Given the description of an element on the screen output the (x, y) to click on. 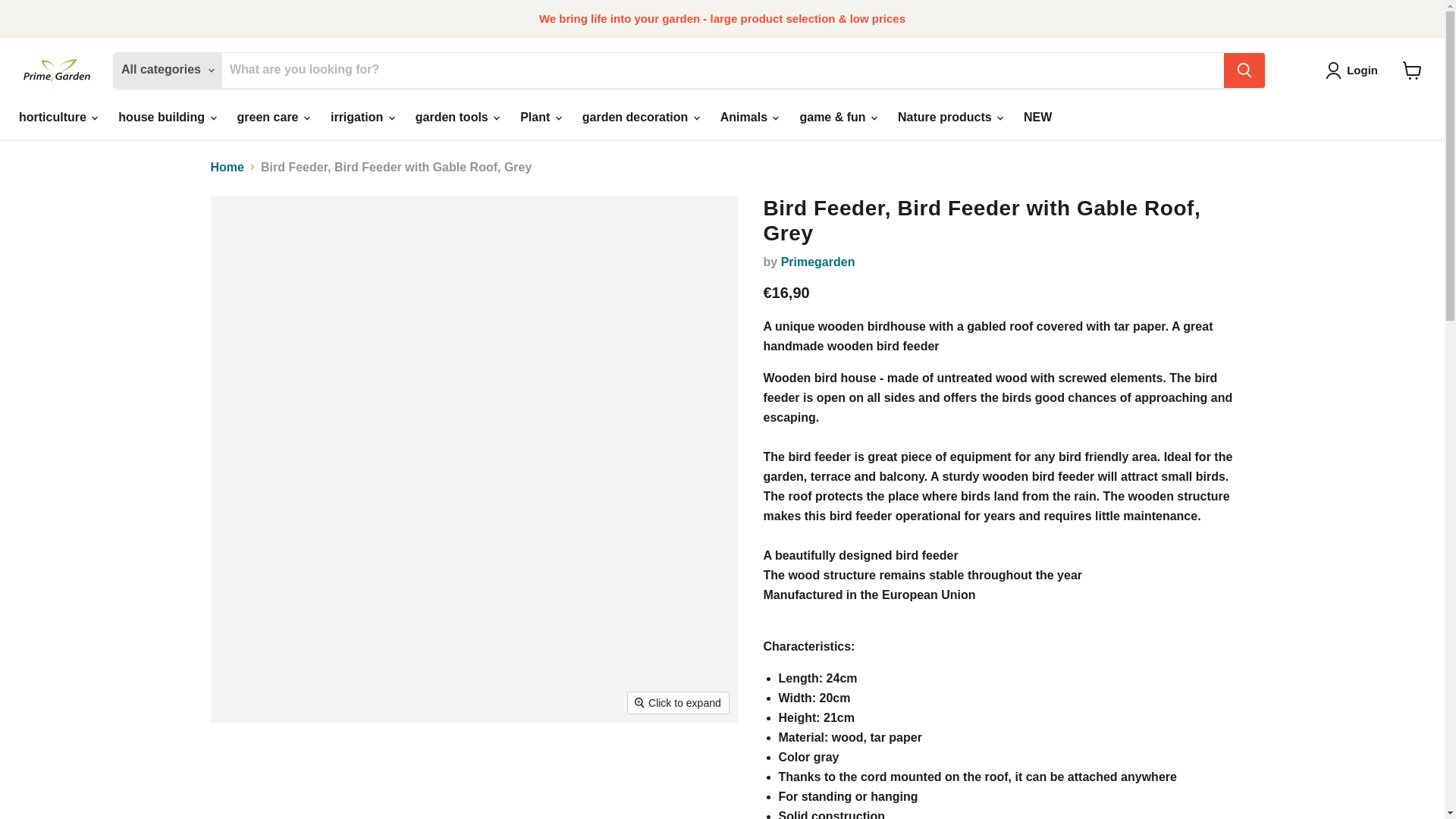
Primegarden (818, 261)
View cart (1411, 69)
Login (1354, 70)
